Given the description of an element on the screen output the (x, y) to click on. 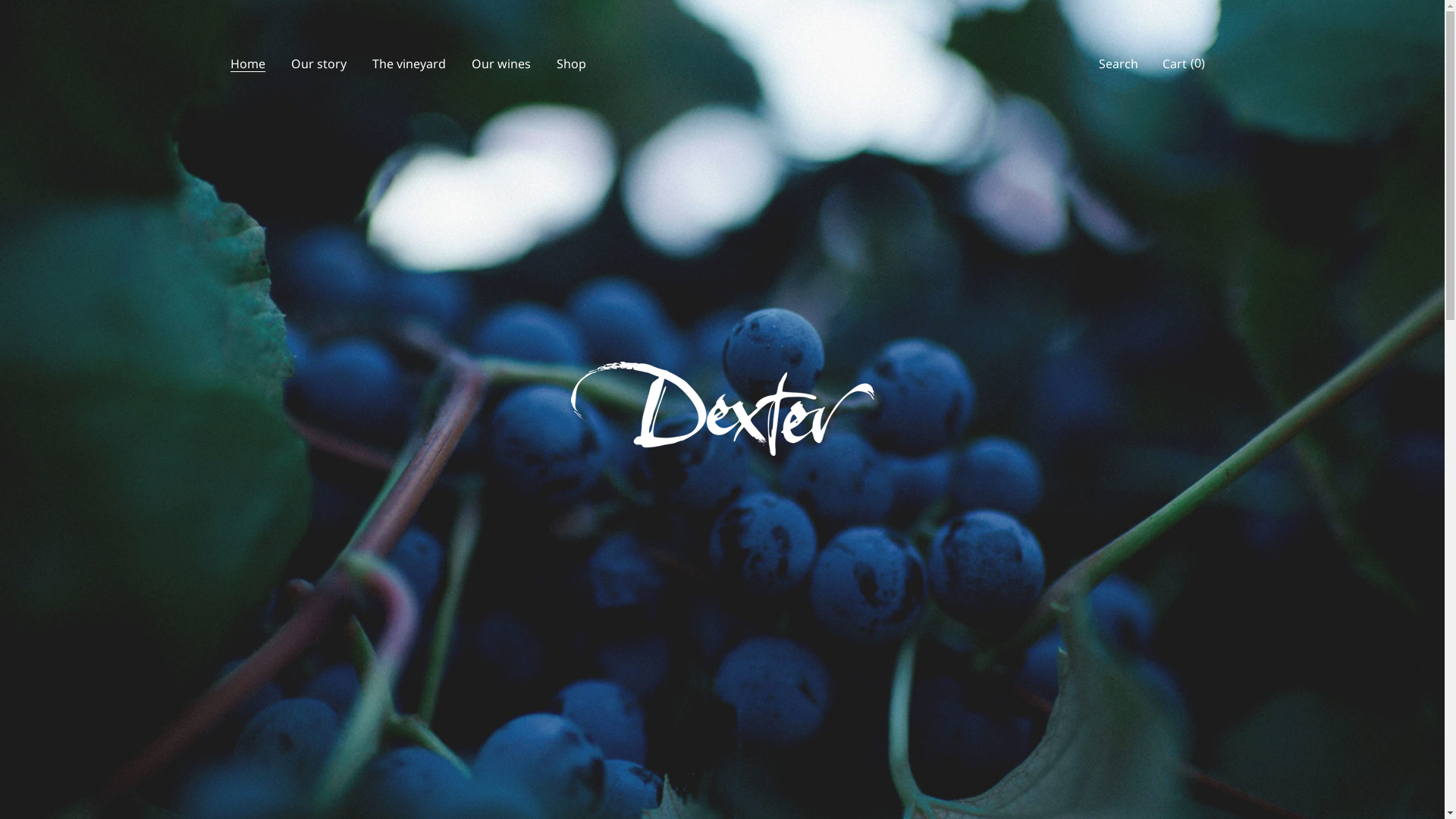
Our wines Element type: text (500, 62)
Home Element type: text (246, 62)
Our story Element type: text (317, 62)
Search Element type: text (1117, 63)
Cart
(0) Element type: text (1182, 63)
Shop Element type: text (570, 62)
The vineyard Element type: text (408, 62)
